Given the description of an element on the screen output the (x, y) to click on. 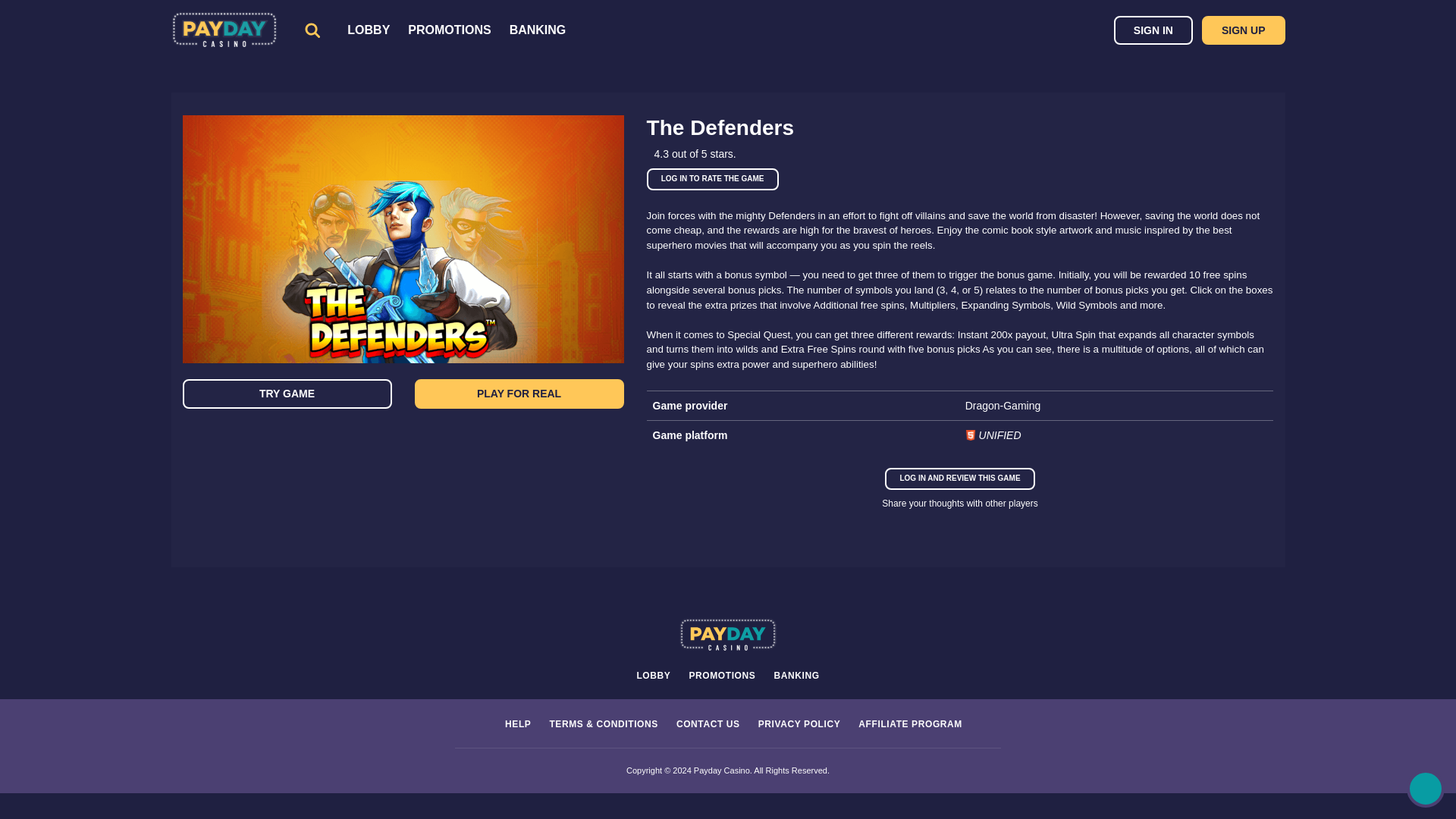
CONTACT US (708, 724)
LOBBY (652, 675)
BANKING (795, 675)
AFFILIATE PROGRAM (910, 724)
SIGN IN (1152, 30)
SIGN UP (1243, 30)
LOG IN AND REVIEW THIS GAME (959, 478)
PROMOTIONS (448, 30)
LOBBY (368, 30)
TRY GAME (286, 393)
PLAY FOR REAL (519, 393)
PROMOTIONS (721, 675)
LOG IN TO RATE THE GAME (712, 179)
HELP (518, 724)
PRIVACY POLICY (799, 724)
